Given the description of an element on the screen output the (x, y) to click on. 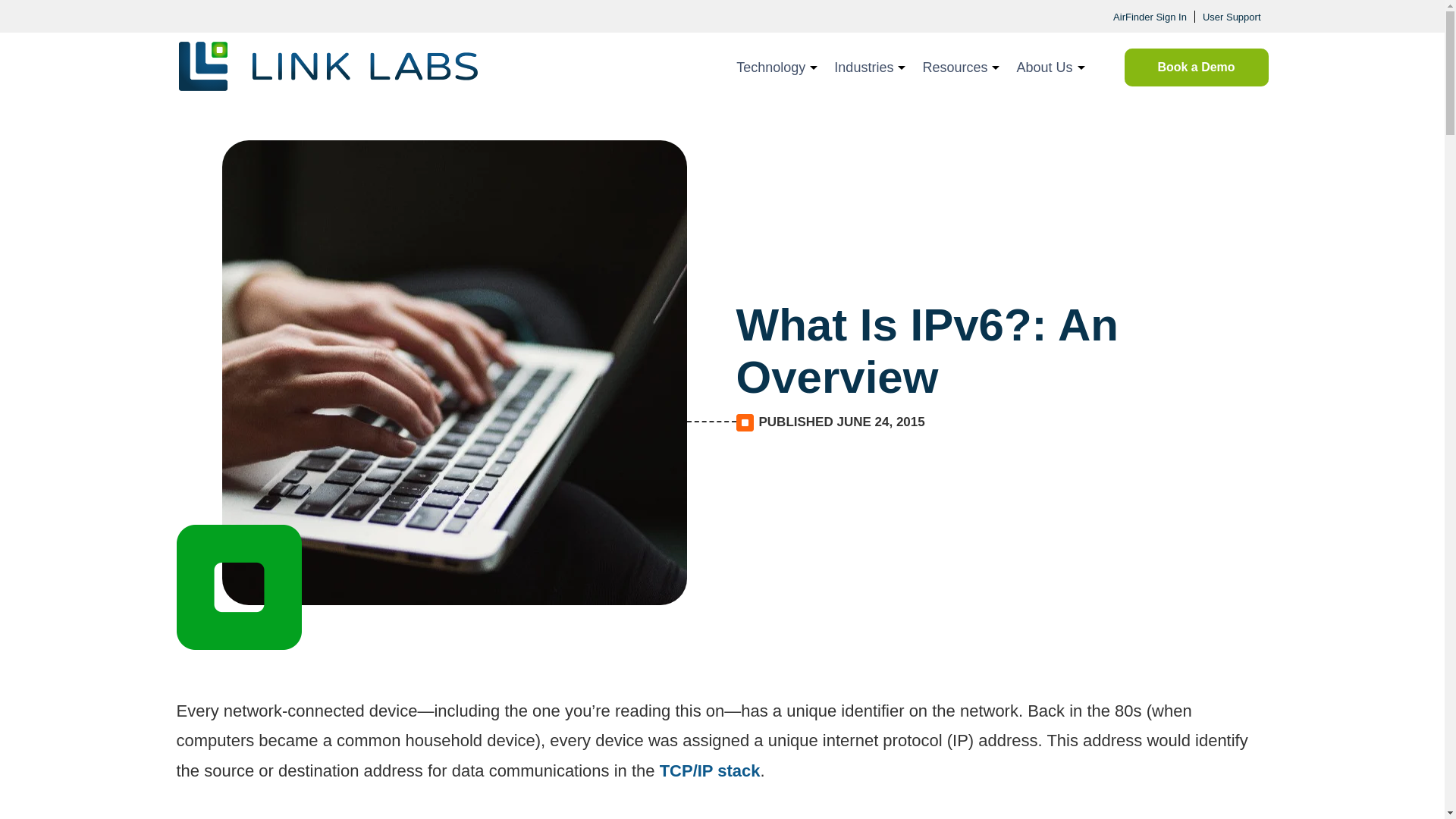
About Us (1046, 65)
User Support (1231, 16)
Book a Demo (1196, 67)
Book a Demo (1196, 67)
Technology (773, 65)
AirFinder Sign In (1149, 16)
Resources (957, 65)
link-labs-logo-radial-2 (327, 66)
Industries (866, 65)
